Given the description of an element on the screen output the (x, y) to click on. 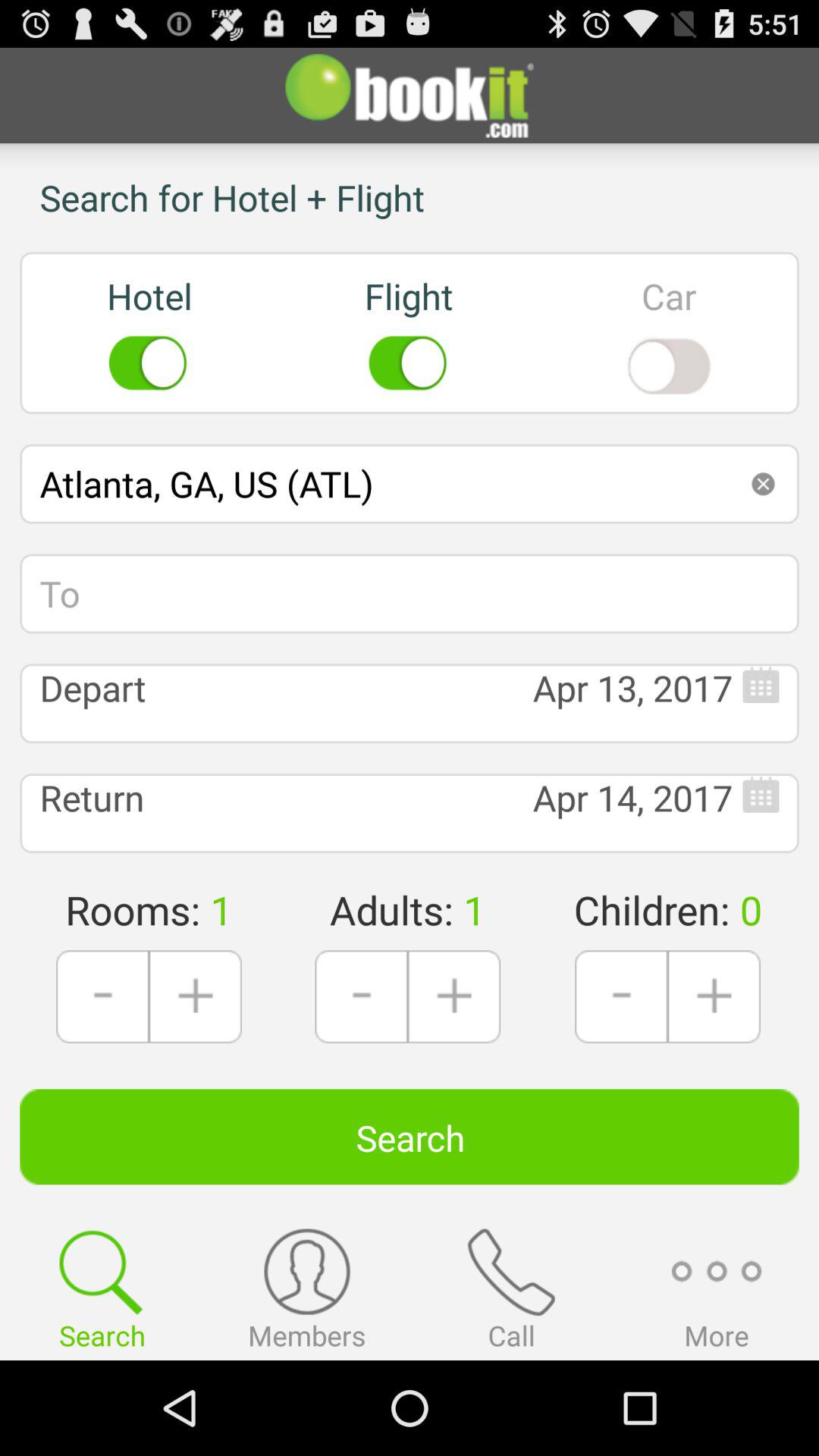
scroll until atlanta ga us item (409, 483)
